Given the description of an element on the screen output the (x, y) to click on. 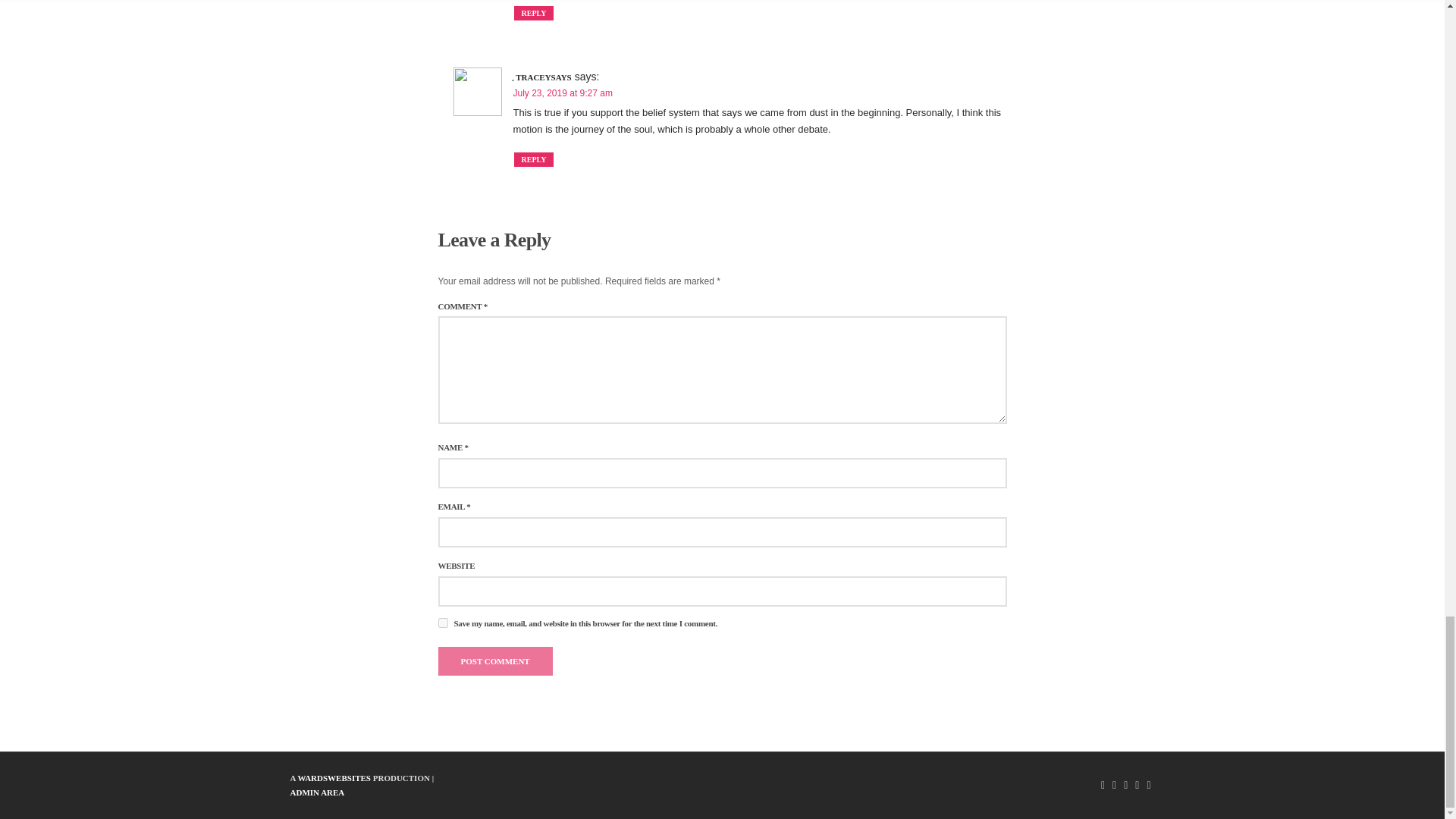
REPLY (533, 159)
WARDSWEBSITES (334, 777)
Post Comment (495, 661)
yes (443, 623)
REPLY (533, 12)
Post Comment (495, 661)
ADMIN AREA (316, 791)
July 23, 2019 at 9:27 am (561, 92)
